Given the description of an element on the screen output the (x, y) to click on. 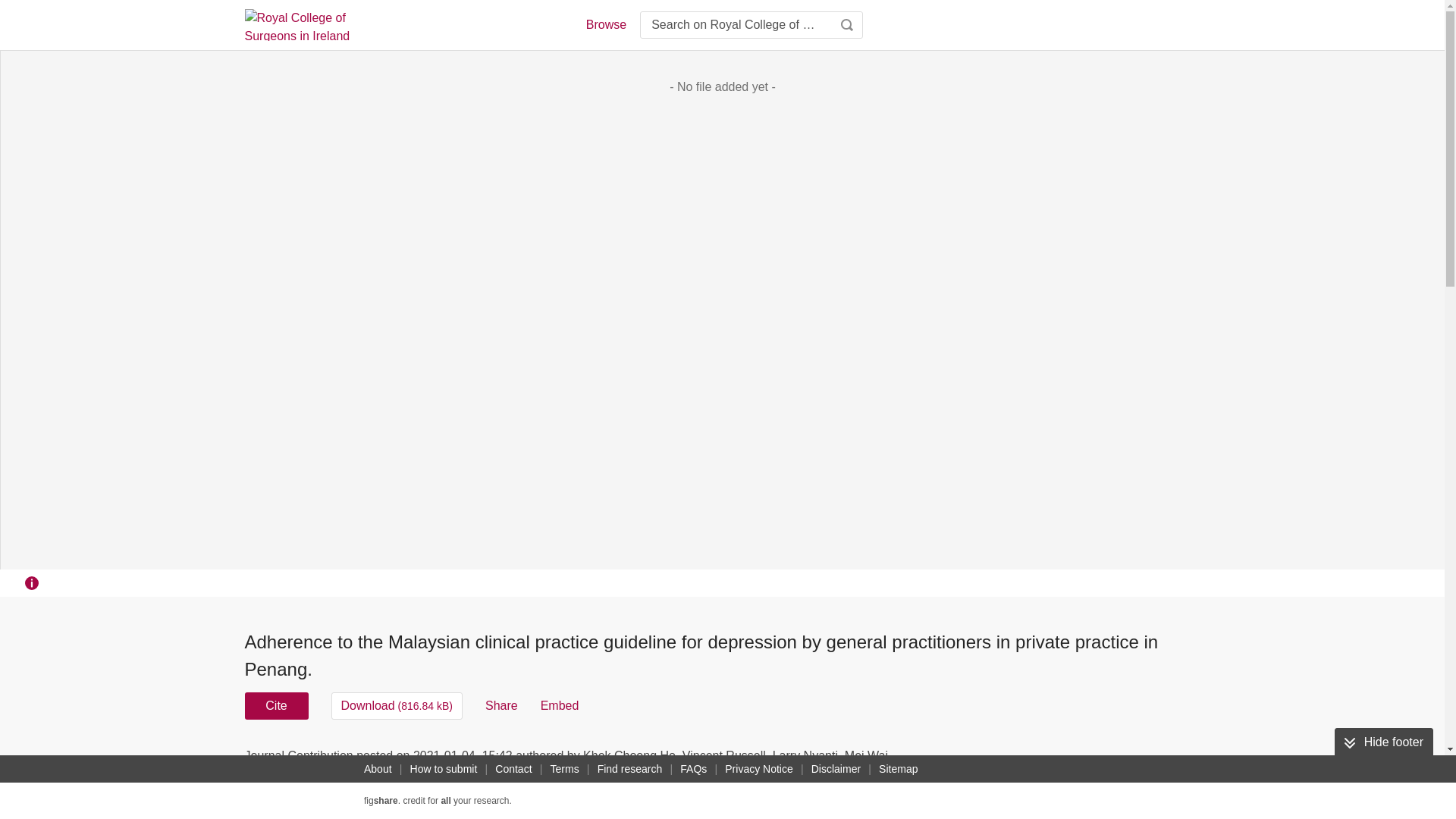
How to submit (443, 769)
Hide footer (1383, 742)
USAGE METRICS (976, 759)
Finian O'Brien (690, 773)
Contact (512, 769)
Share (501, 705)
Embed (559, 705)
Find research (629, 769)
About (377, 769)
Terms (564, 769)
